Given the description of an element on the screen output the (x, y) to click on. 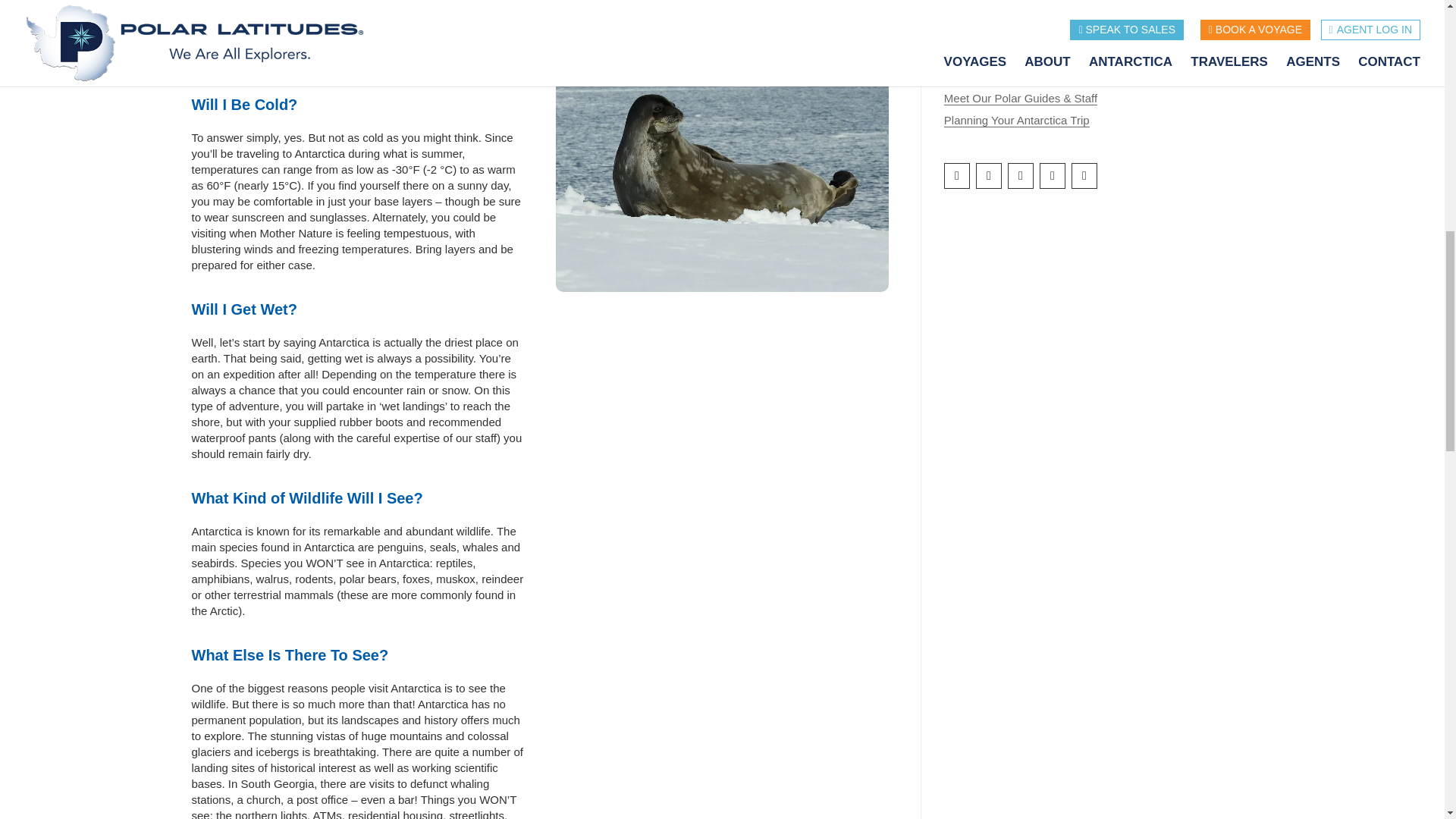
Cierva Cove Leopard Seal Antarctica Polar Latitudes (722, 145)
Happy Guests Mountain Antarctica Polar Latitudes (722, 738)
Follow on Youtube (1052, 175)
Follow on Facebook (956, 175)
Follow on Instagram (988, 175)
Icebergs Antarctica Polar Latitudes (722, 473)
Follow on dribbble (1084, 175)
Follow on X (1020, 175)
